Given the description of an element on the screen output the (x, y) to click on. 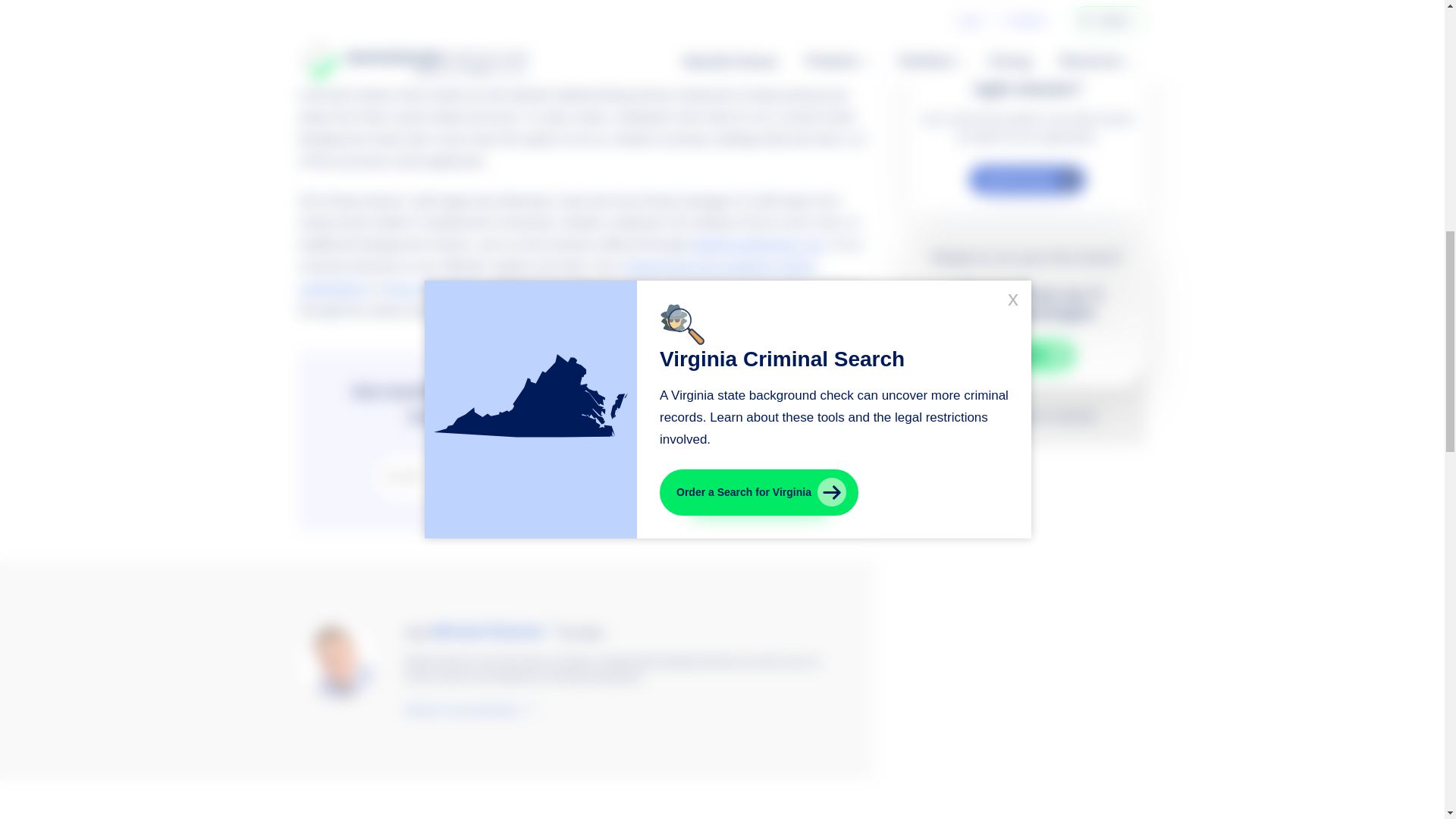
Subscribe (736, 478)
